Given the description of an element on the screen output the (x, y) to click on. 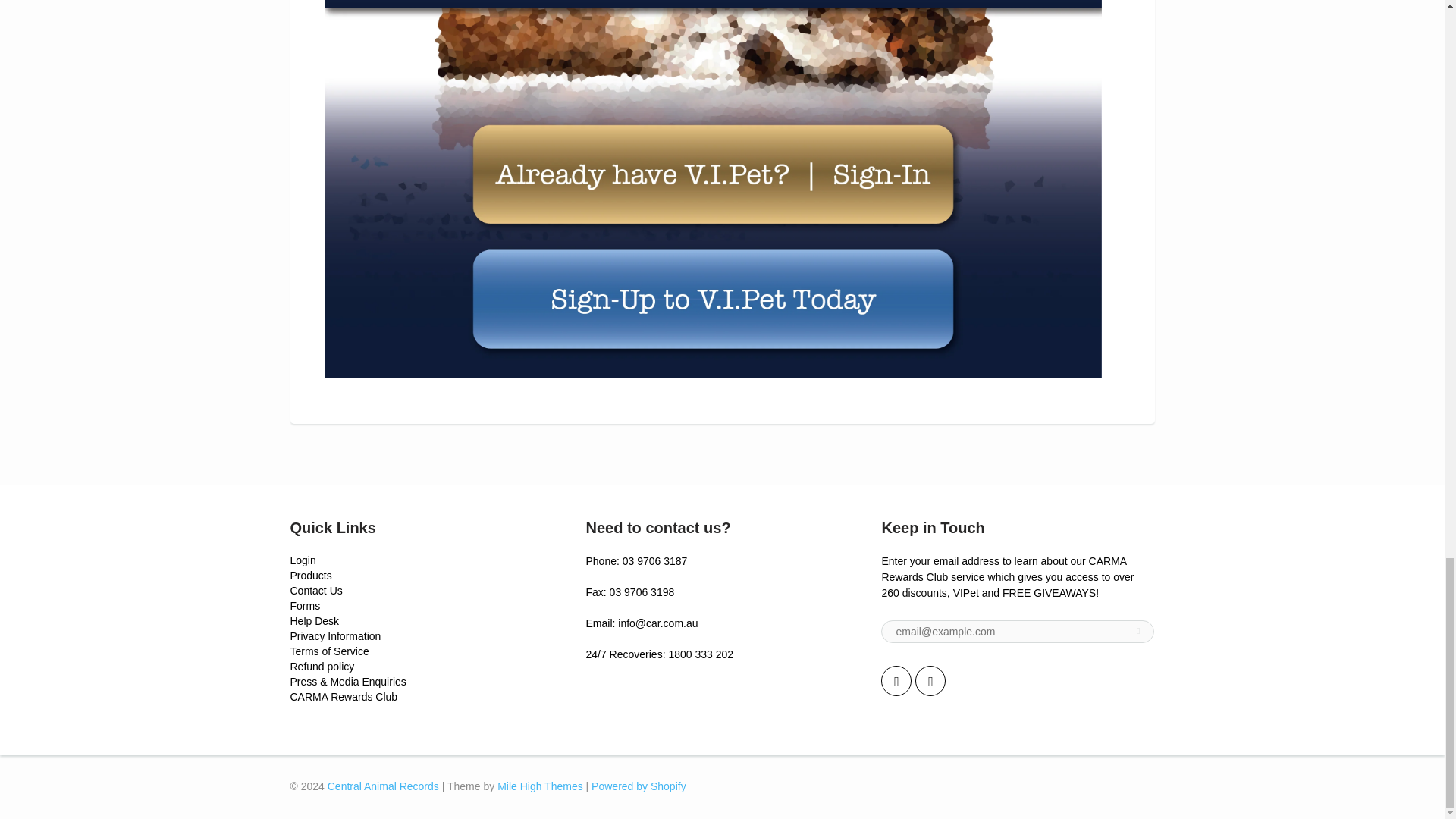
Facebook (895, 680)
Login (302, 560)
Terms of Service (328, 651)
Refund policy (321, 666)
Products (310, 575)
Contact Us (315, 590)
Instagram (929, 680)
Forms (304, 605)
Help Desk (314, 621)
Privacy Information (334, 635)
